Given the description of an element on the screen output the (x, y) to click on. 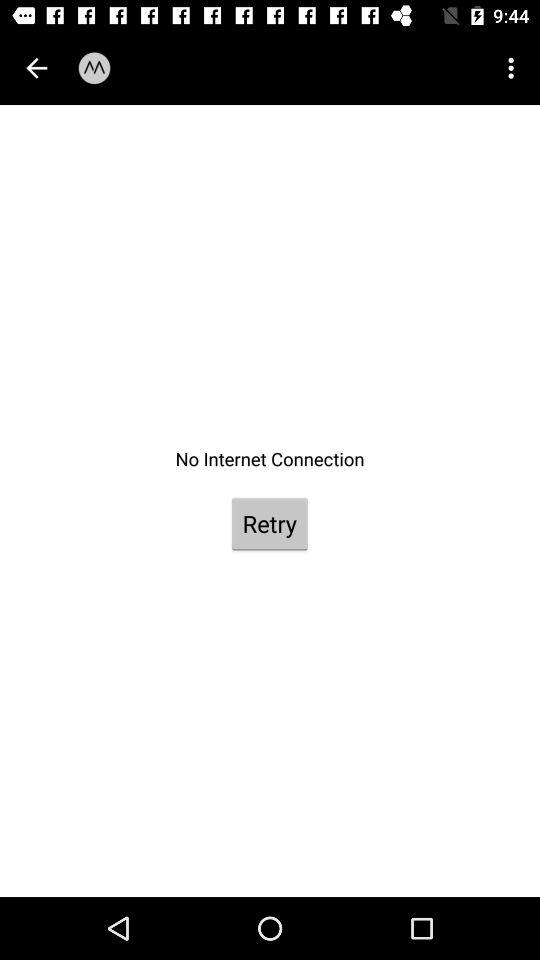
launch the icon at the top right corner (513, 67)
